Given the description of an element on the screen output the (x, y) to click on. 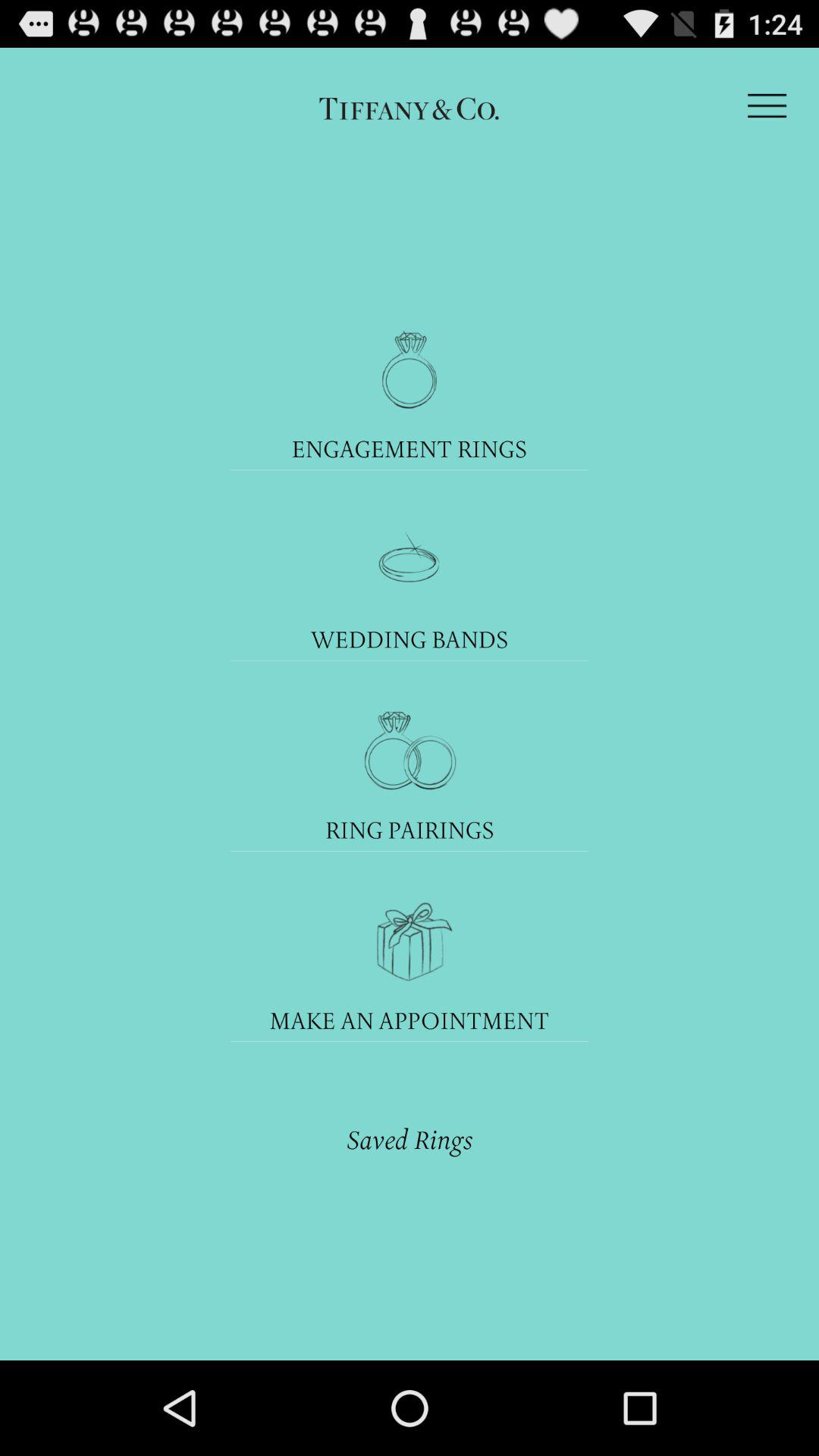
tap item above the wedding bands icon (409, 560)
